Given the description of an element on the screen output the (x, y) to click on. 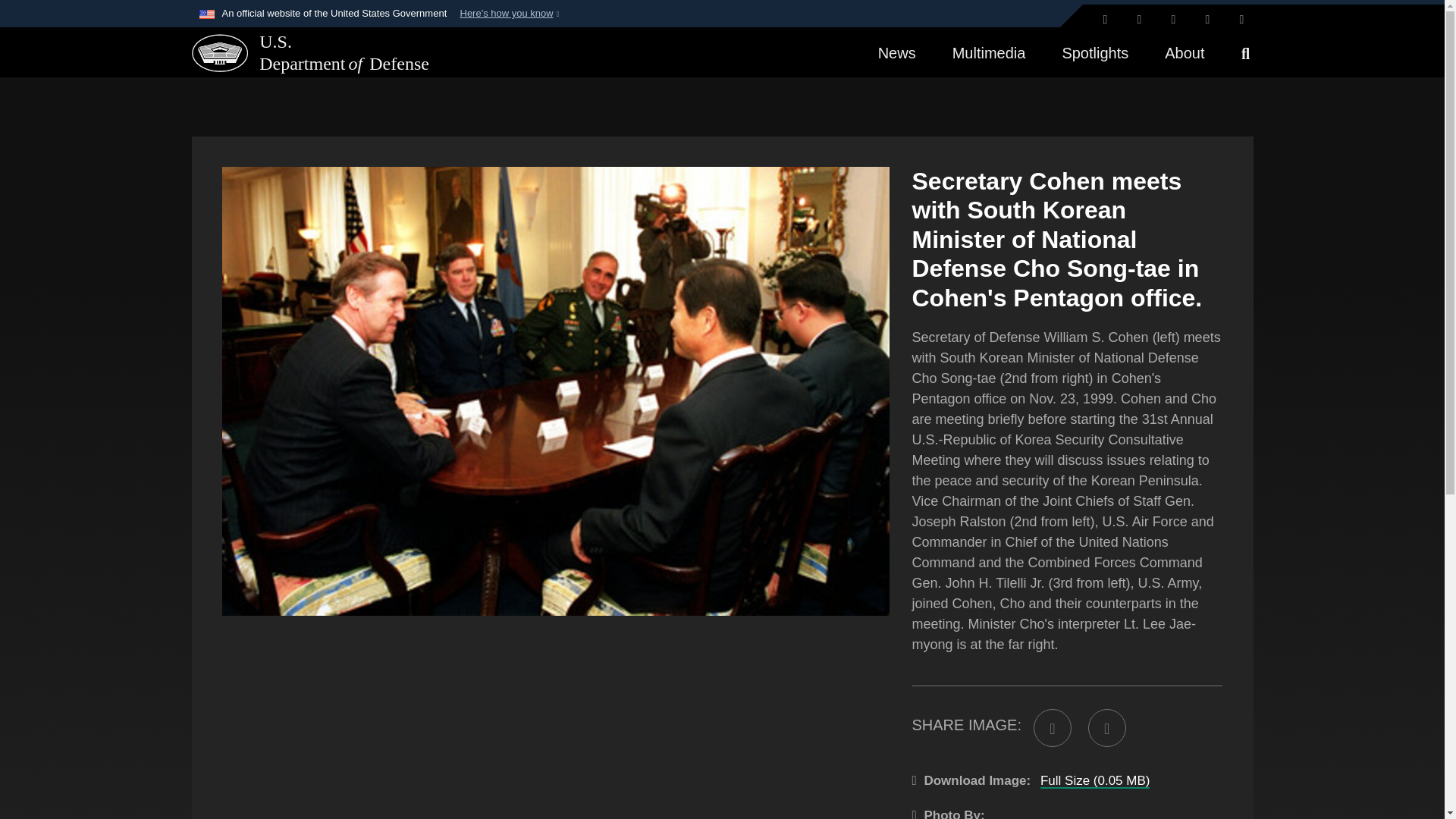
Spotlights (1095, 51)
U.S. DepartmentofDefense (298, 53)
Facebook (1139, 19)
YouTube (1241, 19)
U.S. Department of Defense (218, 52)
Instagram (1173, 19)
News (897, 51)
X (1104, 19)
LinkedIn (1208, 19)
Multimedia (988, 51)
